Given the description of an element on the screen output the (x, y) to click on. 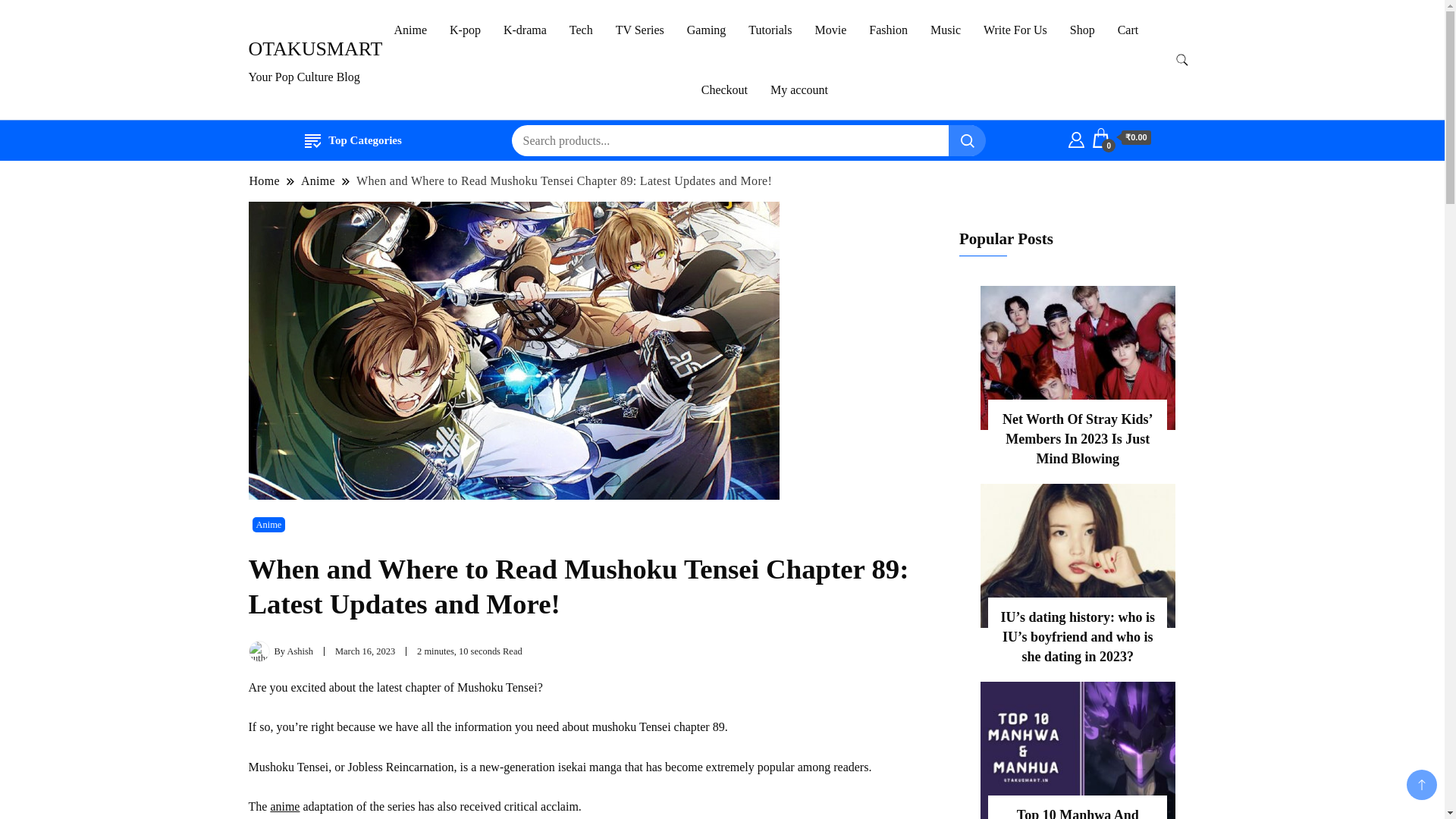
Cart (1120, 137)
Checkout (724, 89)
My Account (1076, 137)
OTAKUSMART (315, 48)
Tutorials (770, 29)
Fashion (888, 29)
K-drama (524, 29)
Gaming (706, 29)
Write For Us (1015, 29)
My account (799, 89)
TV Series (639, 29)
